Given the description of an element on the screen output the (x, y) to click on. 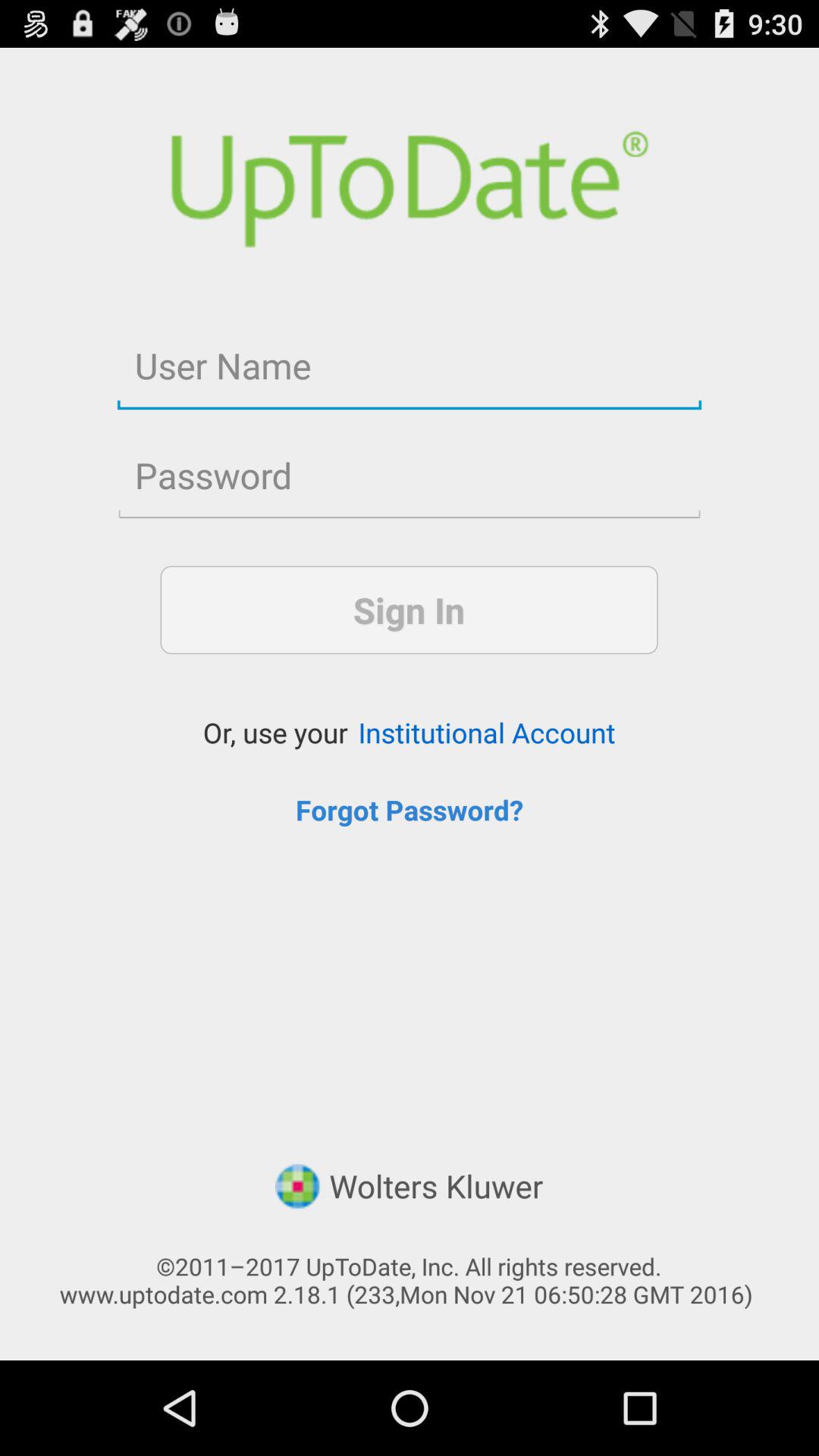
open the forgot password? app (409, 809)
